Given the description of an element on the screen output the (x, y) to click on. 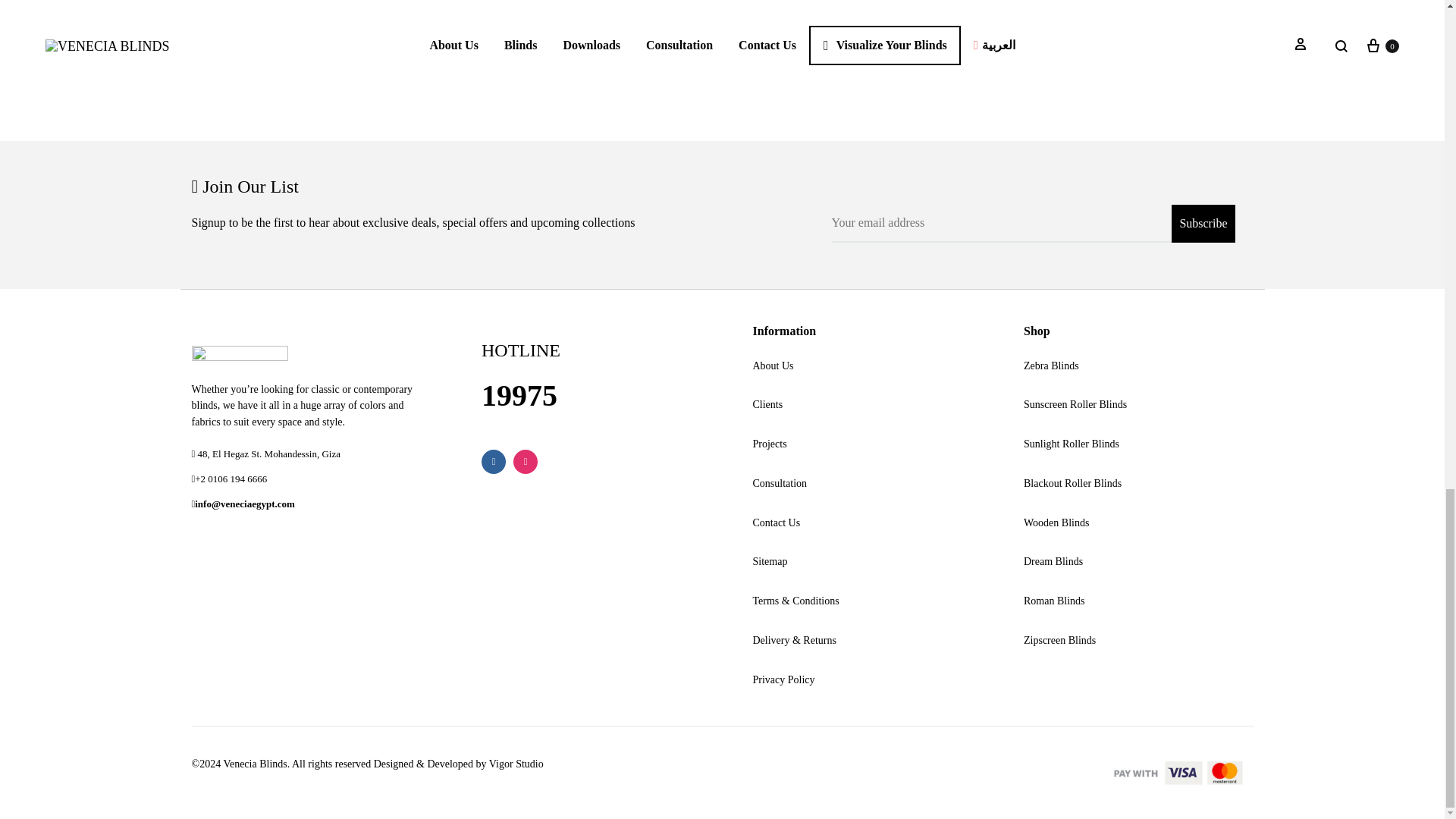
Facebook (493, 461)
Houzz (588, 461)
Youtube (556, 461)
Subscribe (1203, 223)
Instagram (525, 461)
